Given the description of an element on the screen output the (x, y) to click on. 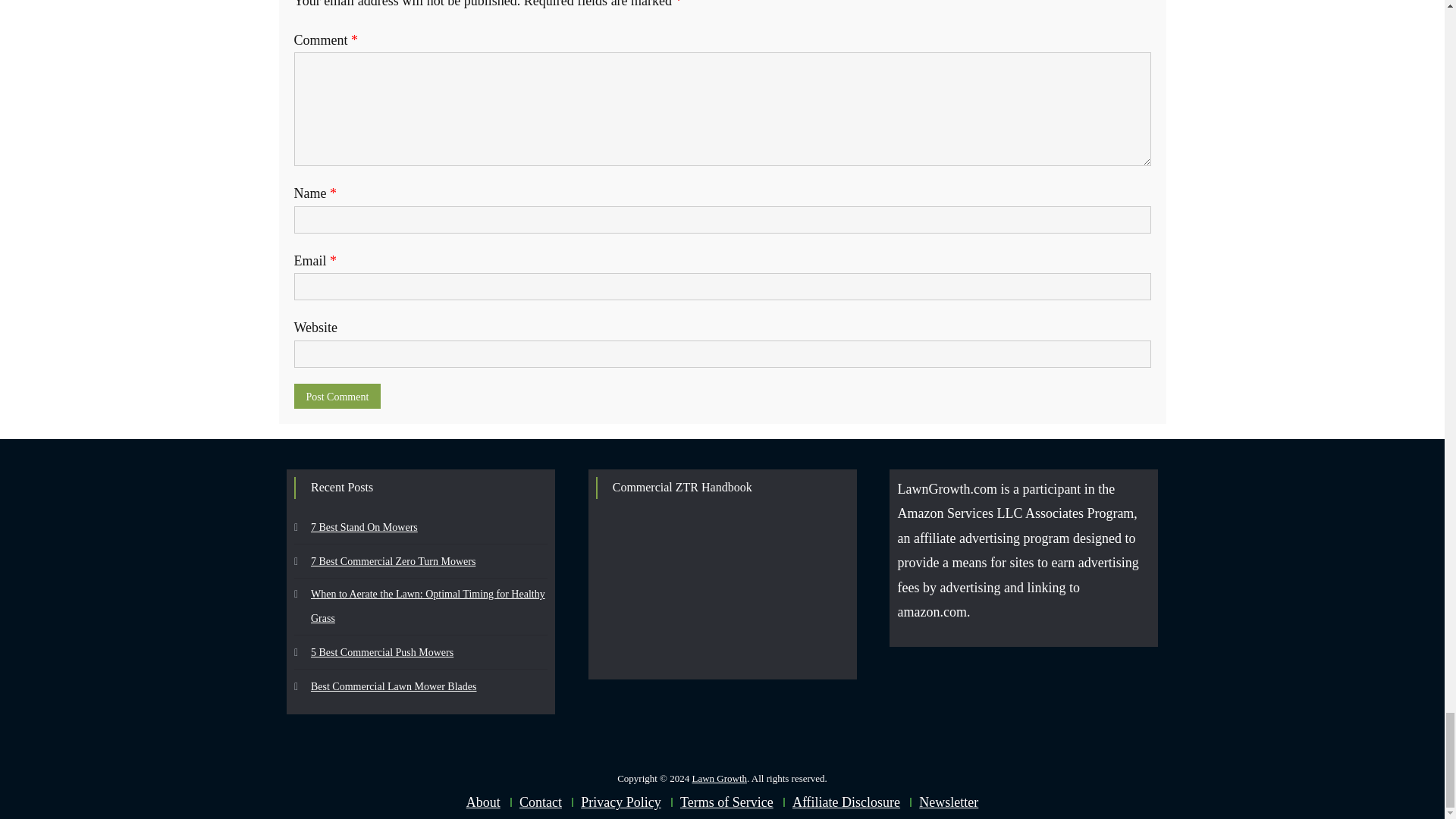
Post Comment (337, 396)
Lawn Growth (718, 778)
